Given the description of an element on the screen output the (x, y) to click on. 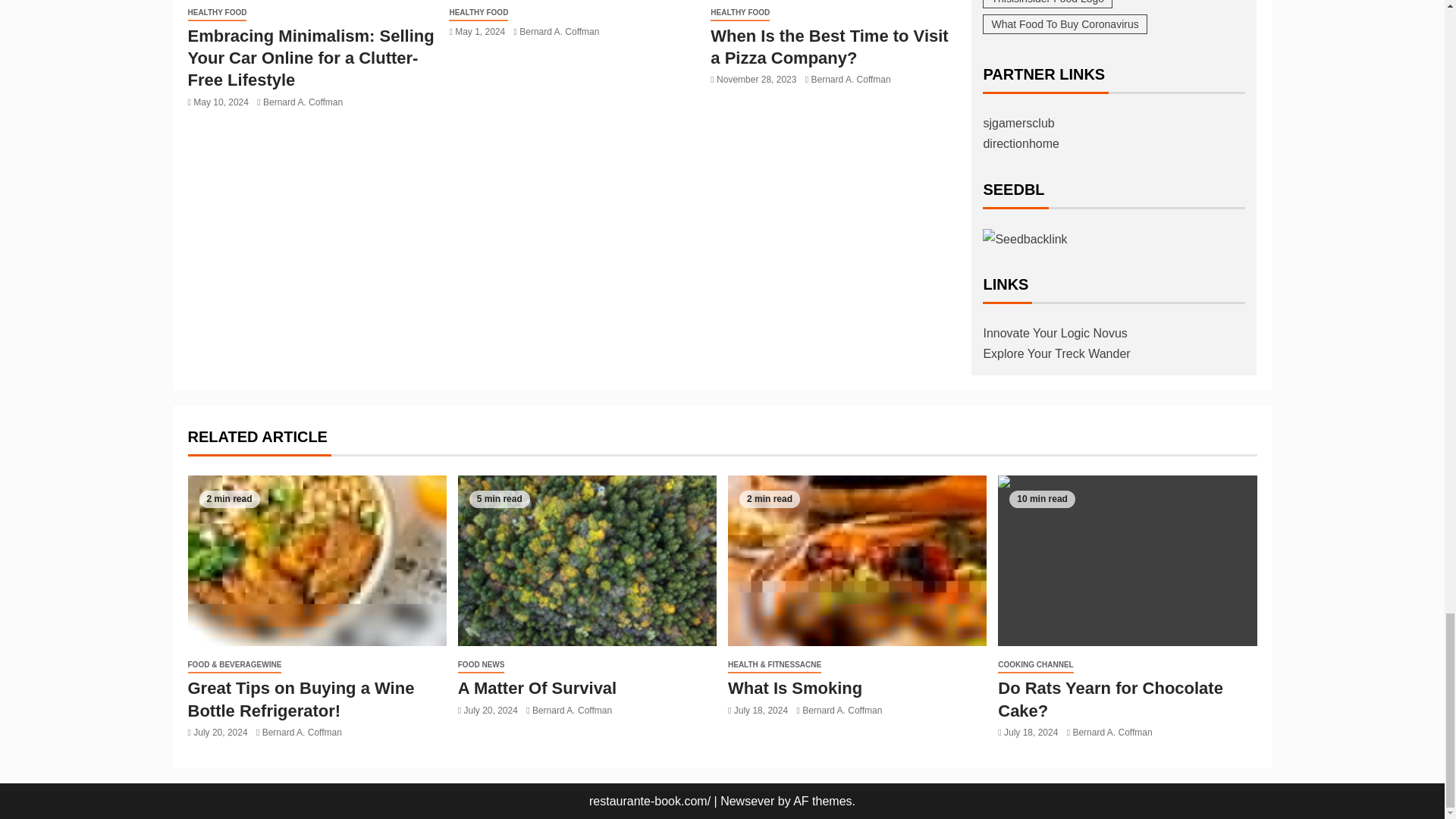
HEALTHY FOOD (217, 12)
